Given the description of an element on the screen output the (x, y) to click on. 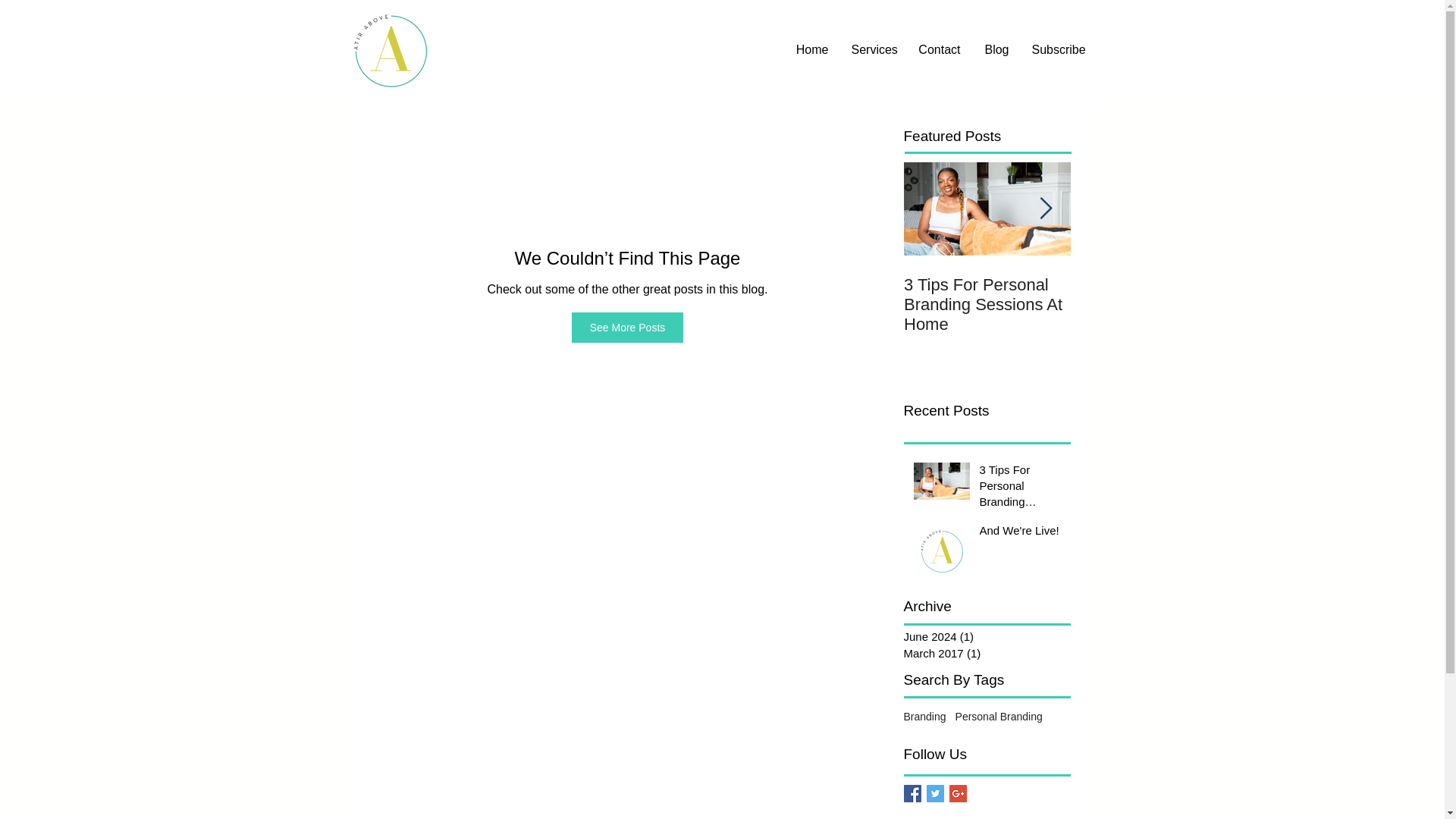
See More Posts (628, 327)
3 Tips For Personal Branding Sessions At Home (1020, 488)
And We're Live! (1153, 284)
Services (873, 49)
Subscribe (1058, 49)
Blog (996, 49)
Home (811, 49)
Branding (925, 716)
Personal Branding (998, 716)
3 Tips For Personal Branding Sessions At Home (987, 304)
Contact (939, 49)
And We're Live! (1020, 533)
